Given the description of an element on the screen output the (x, y) to click on. 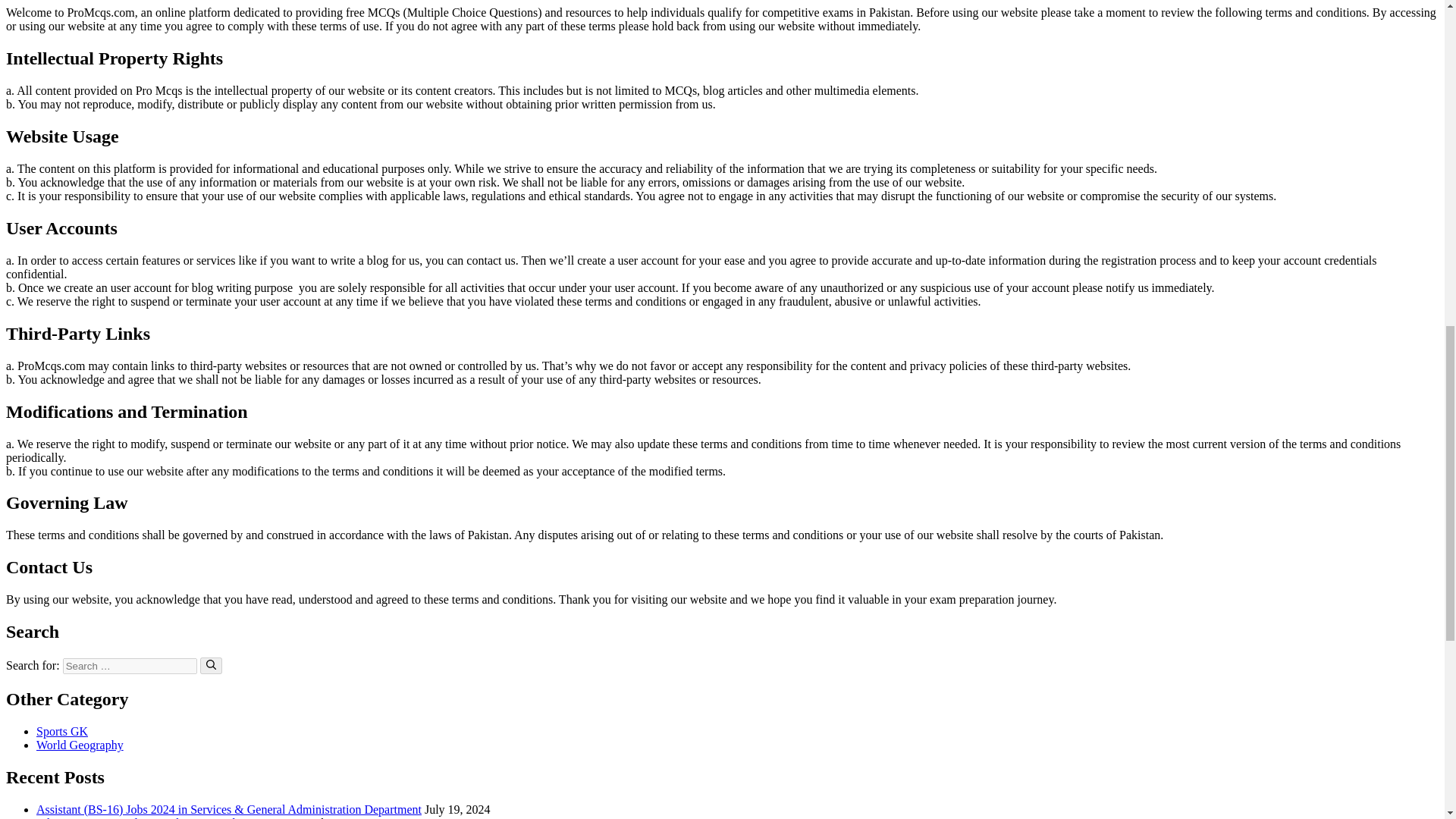
Search for: (129, 666)
Sports GK (61, 730)
World Geography (79, 744)
